Given the description of an element on the screen output the (x, y) to click on. 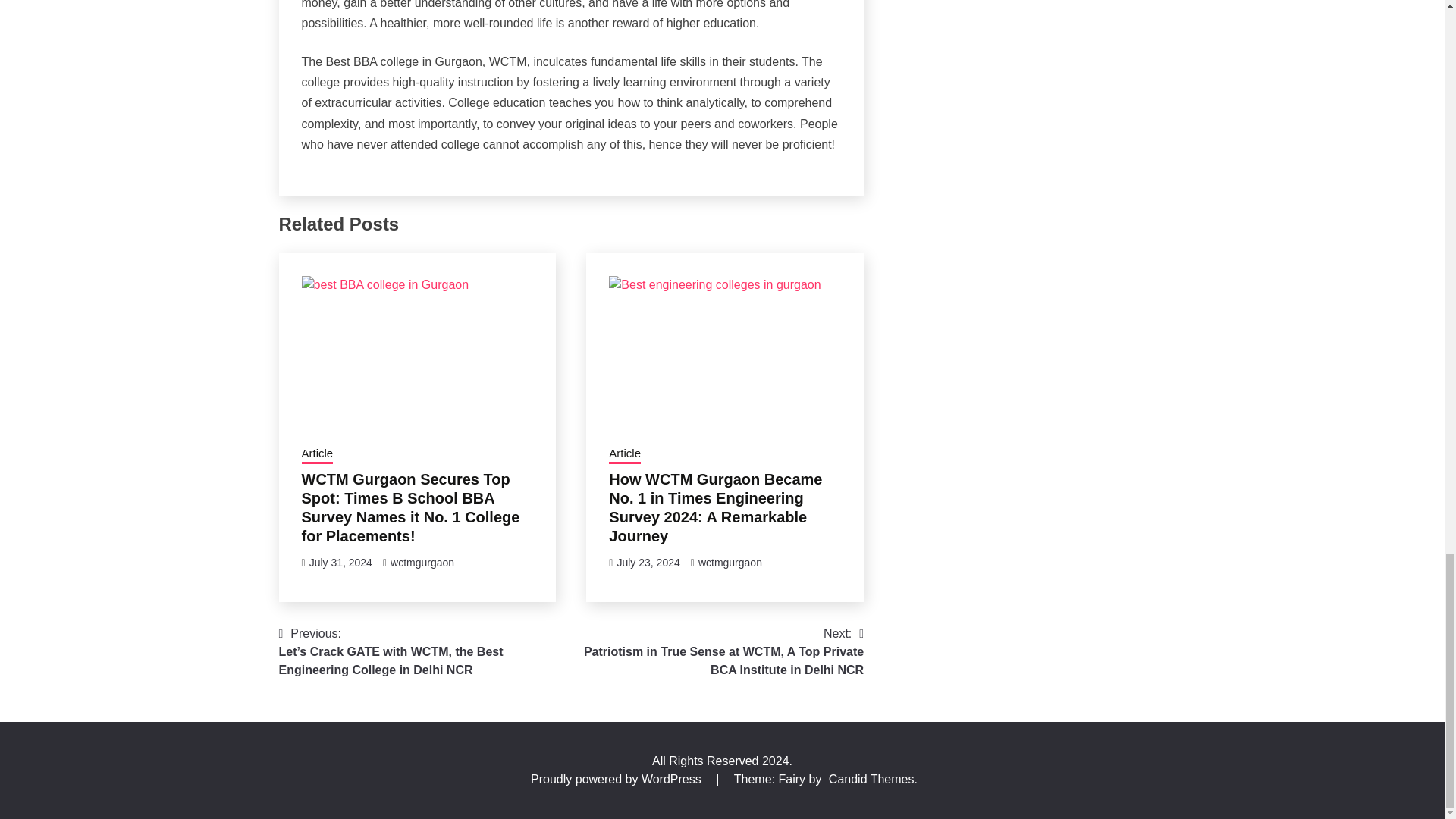
July 23, 2024 (647, 562)
wctmgurgaon (729, 562)
wctmgurgaon (422, 562)
Article (624, 455)
Article (317, 455)
July 31, 2024 (340, 562)
